Given the description of an element on the screen output the (x, y) to click on. 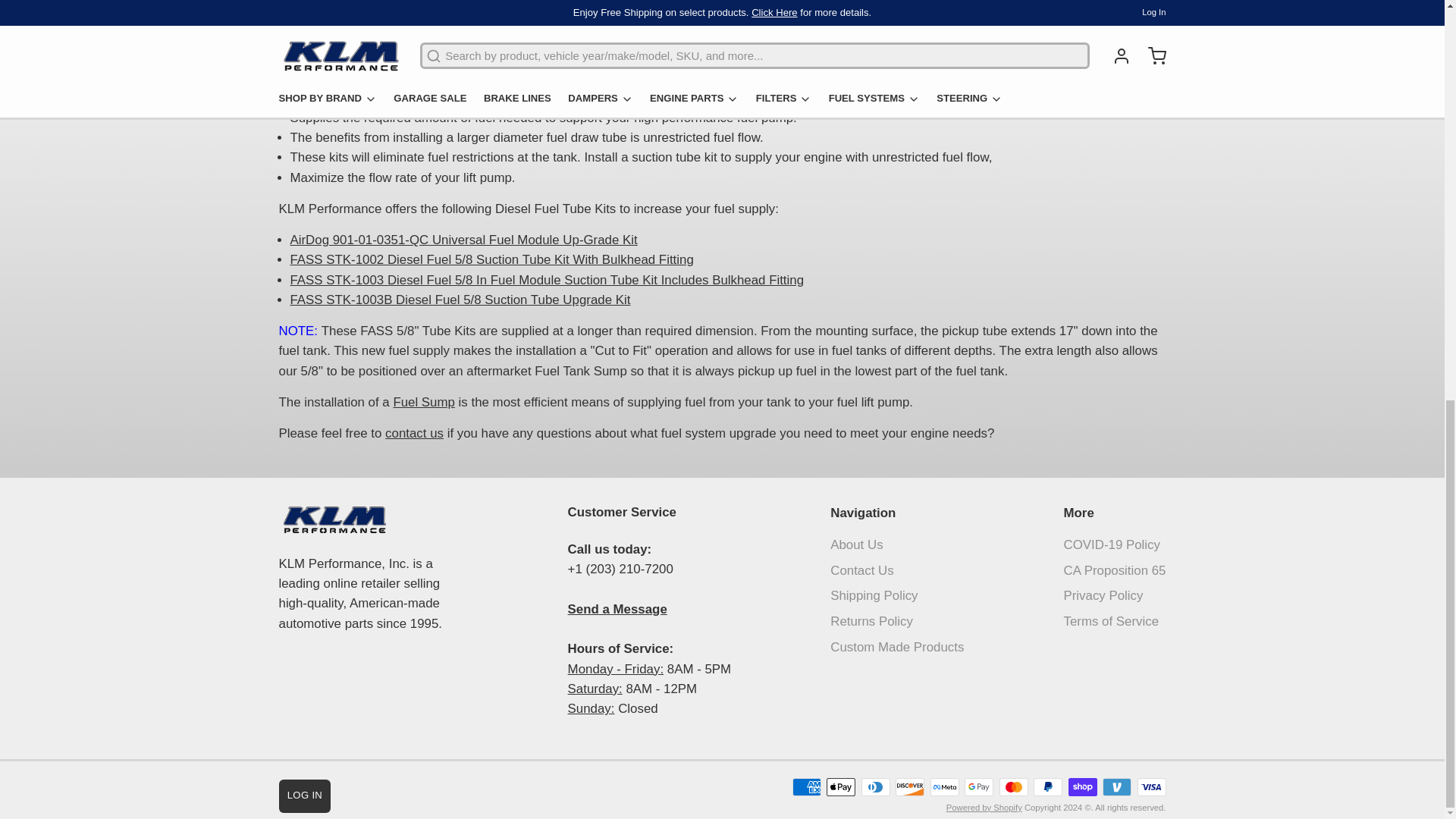
AirDog 901-01-0351-QC Suction Tube Kit (463, 239)
